Given the description of an element on the screen output the (x, y) to click on. 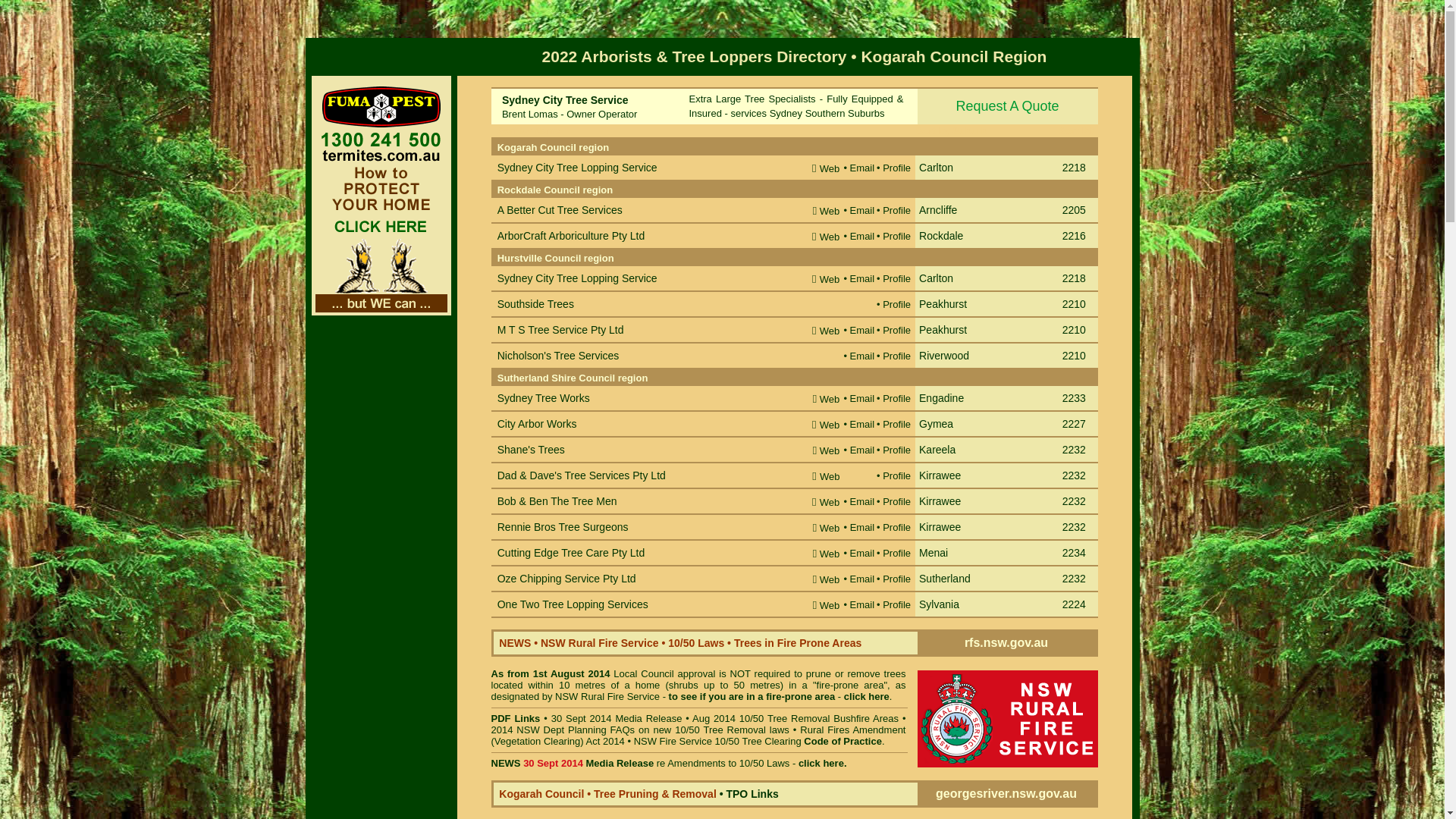
Hurstville Council region Element type: text (555, 257)
Sort by Suburb Element type: text (951, 130)
Rockdale Council region Element type: text (554, 188)
georgesriver.nsw.gov.au Element type: text (1005, 793)
Rockdale Element type: text (941, 235)
Rural Fires Amendment (Vegetation Clearing) Act 2014 Element type: text (698, 735)
click here. Element type: text (822, 762)
Sutherland Element type: text (944, 578)
Menai Element type: text (933, 552)
NSW Fire Service 10/50 Tree Clearing Code of Practice Element type: text (757, 740)
Request A Quote Element type: text (1007, 106)
Gymea Element type: text (936, 423)
Peakhurst Element type: text (942, 304)
Kirrawee Element type: text (939, 501)
Sort PC Element type: text (1077, 130)
Riverwood Element type: text (944, 355)
TPO Links Element type: text (751, 793)
Kirrawee Element type: text (939, 475)
Carlton Element type: text (936, 167)
30 Sept 2014 Media Release Element type: text (616, 718)
Carlton Element type: text (936, 278)
- click here Element type: text (861, 696)
Aug 2014 10/50 Tree Removal Bushfire Areas Element type: text (795, 718)
2014 NSW Dept Planning FAQs on new 10/50 Tree Removal Element type: text (628, 729)
Sort by Name Element type: text (529, 130)
Sylvania Element type: text (939, 604)
Engadine Element type: text (941, 398)
Sutherland Shire Council region Element type: text (572, 376)
Kogarah Council region Element type: text (552, 146)
fire-prone area Element type: text (799, 696)
Kirrawee Element type: text (939, 527)
rfs.nsw.gov.au Element type: text (1006, 642)
Arncliffe Element type: text (938, 210)
Peakhurst Element type: text (942, 329)
Kareela Element type: text (937, 449)
